Given the description of an element on the screen output the (x, y) to click on. 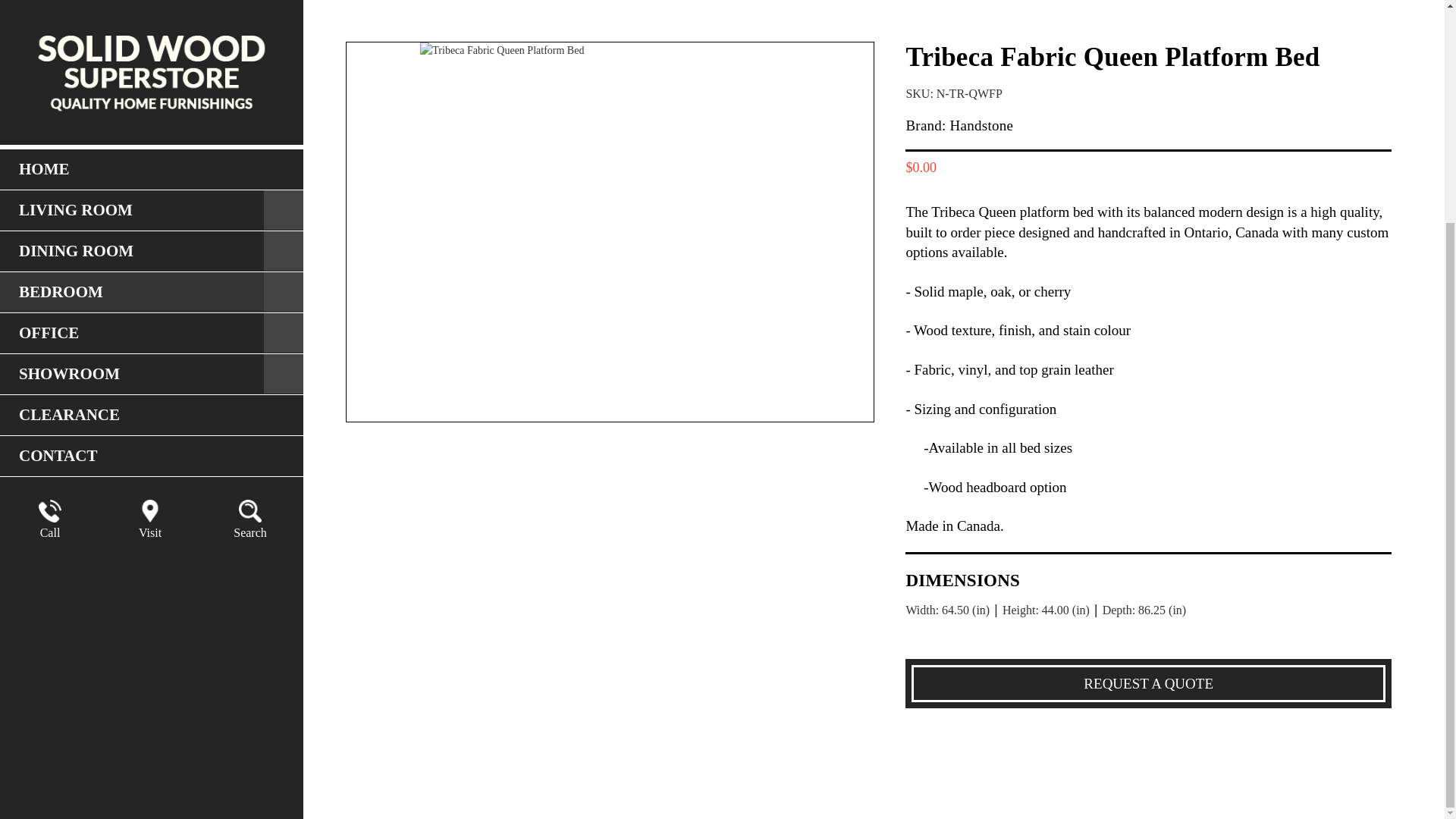
SHOWROOM (151, 77)
CONTACT (151, 159)
CLEARANCE (151, 118)
BEDROOM (151, 8)
OFFICE (151, 36)
